Given the description of an element on the screen output the (x, y) to click on. 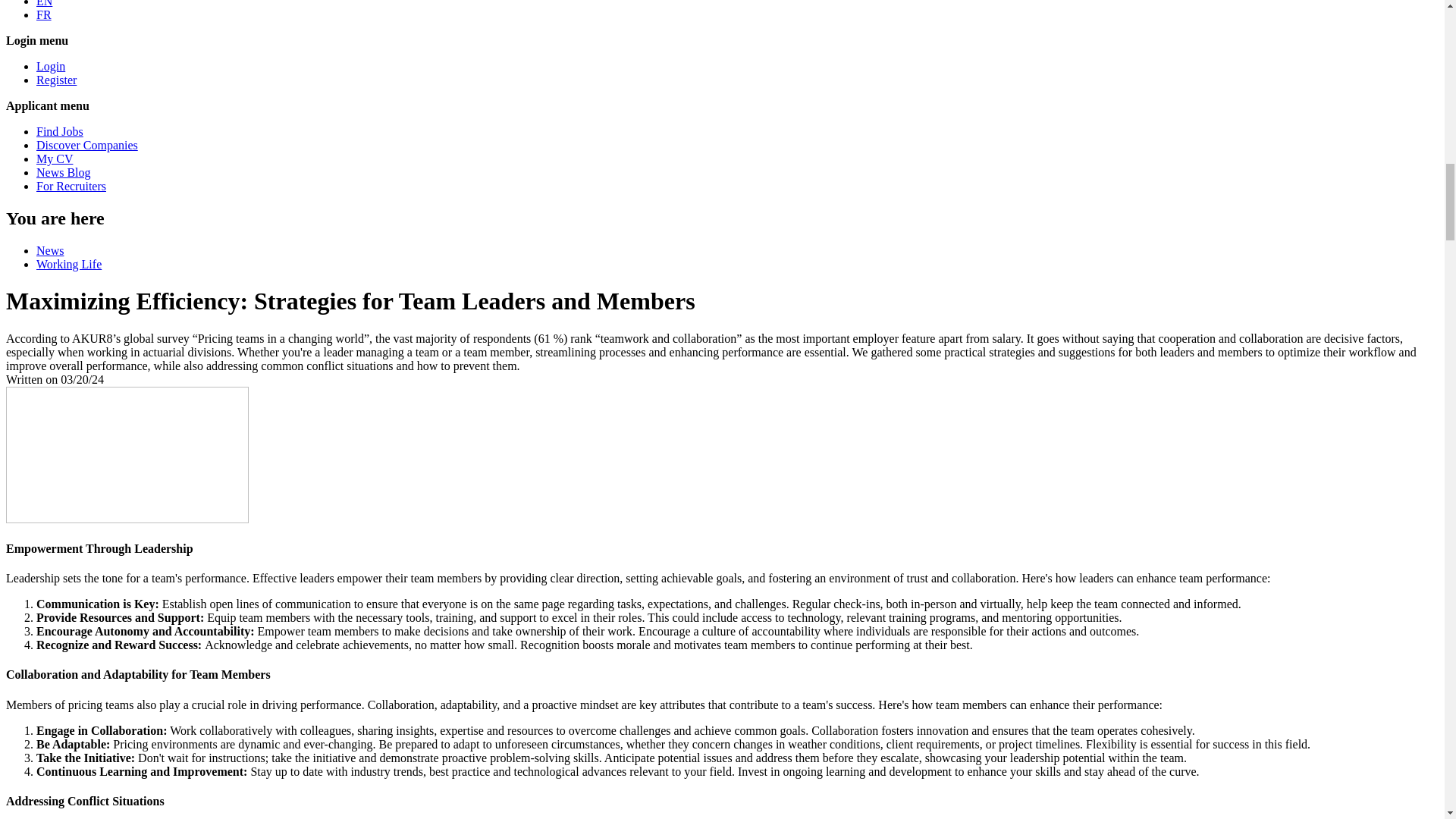
EN (44, 3)
Find Jobs (59, 131)
My CV (54, 158)
Login (50, 65)
For Recruiters (71, 185)
News Blog (63, 172)
Discover Companies (87, 144)
News (50, 250)
Working Life (68, 264)
Register (56, 79)
FR (43, 14)
